Given the description of an element on the screen output the (x, y) to click on. 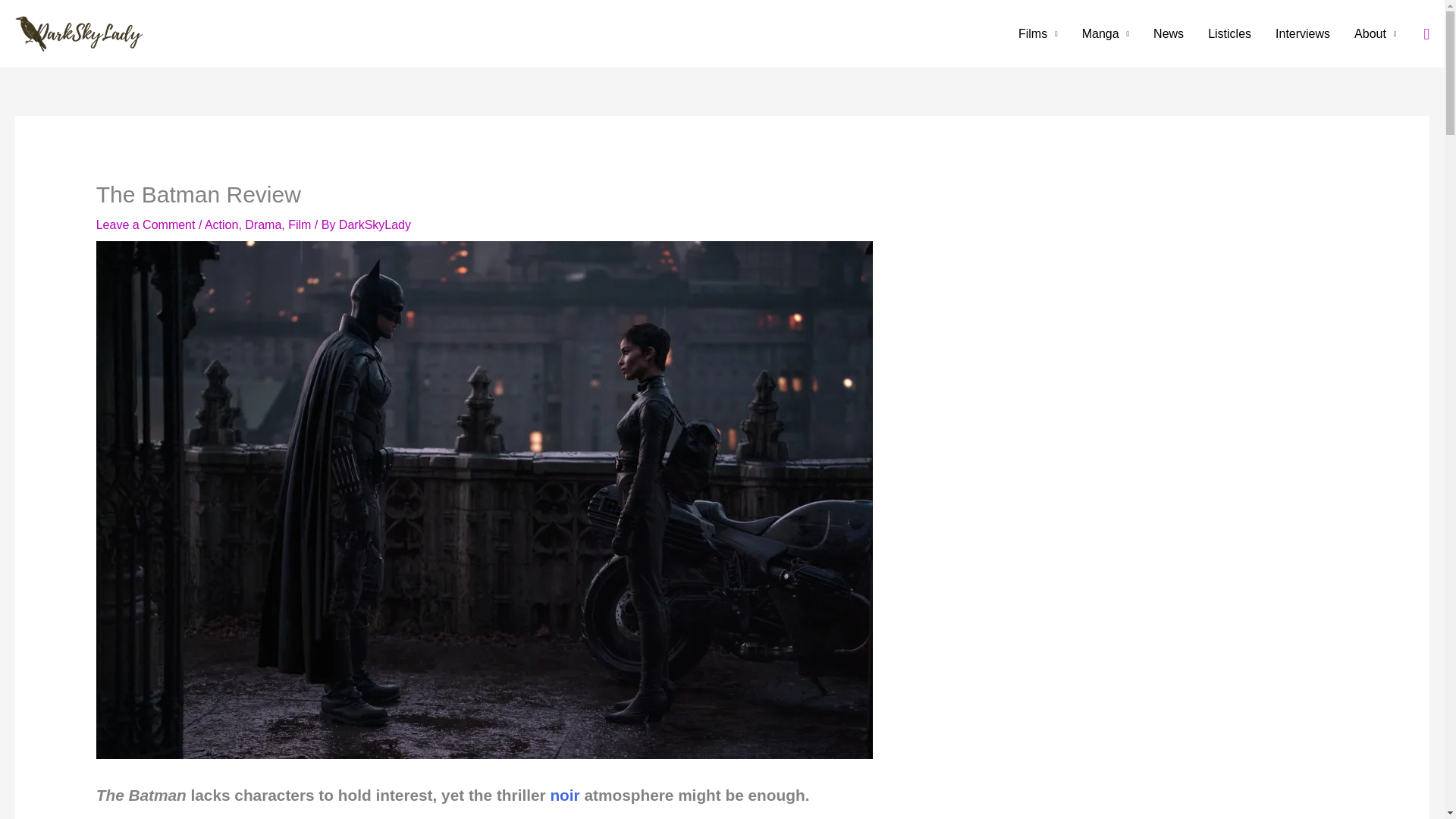
Listicles (1229, 33)
Interviews (1302, 33)
Drama (262, 224)
Leave a Comment (145, 224)
Films (1038, 33)
View all posts by DarkSkyLady (374, 224)
About (1374, 33)
Action (221, 224)
News (1168, 33)
Film (299, 224)
Manga (1105, 33)
